Given the description of an element on the screen output the (x, y) to click on. 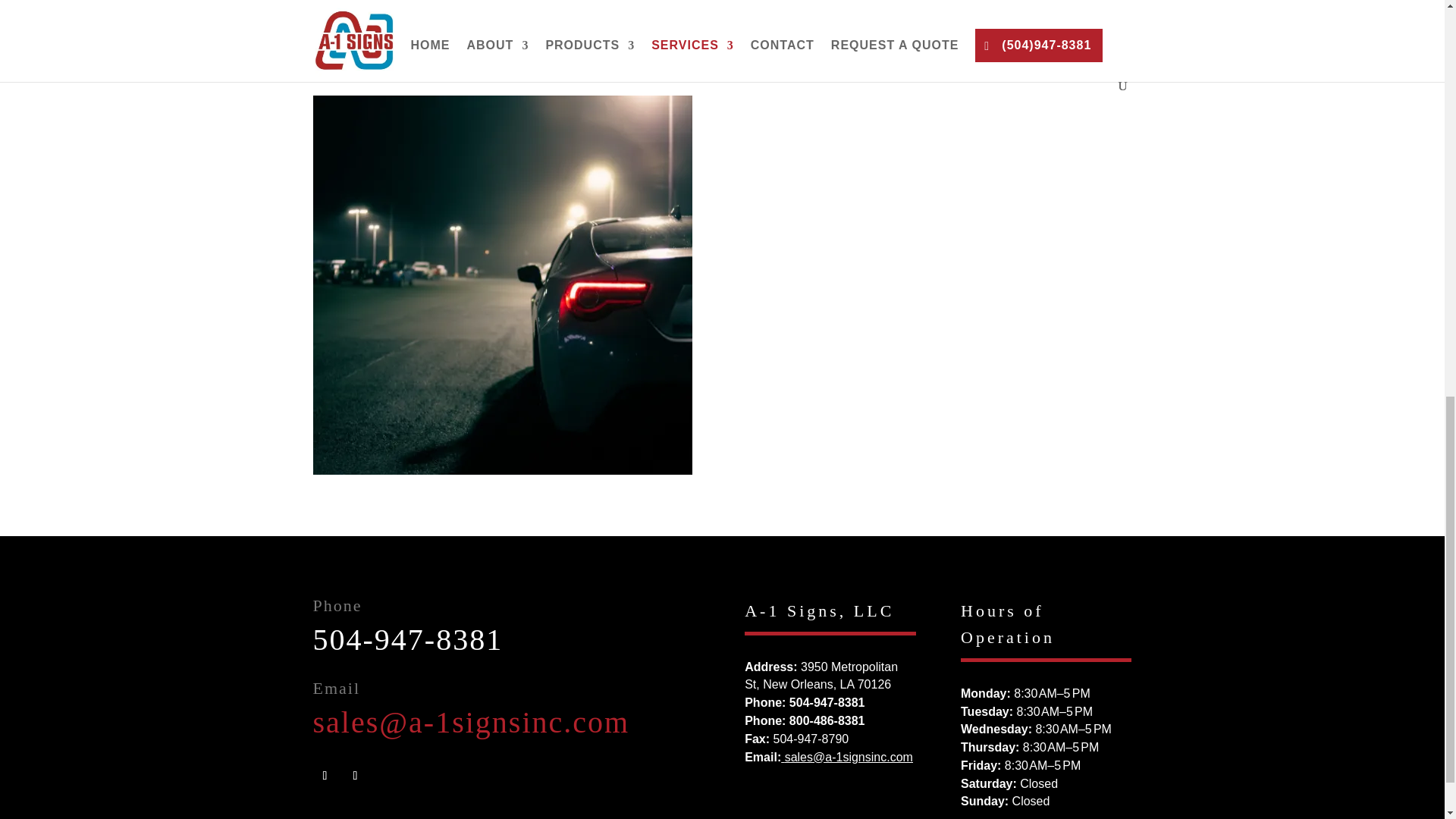
Follow on LinkedIn (354, 775)
Follow on Facebook (324, 775)
